Given the description of an element on the screen output the (x, y) to click on. 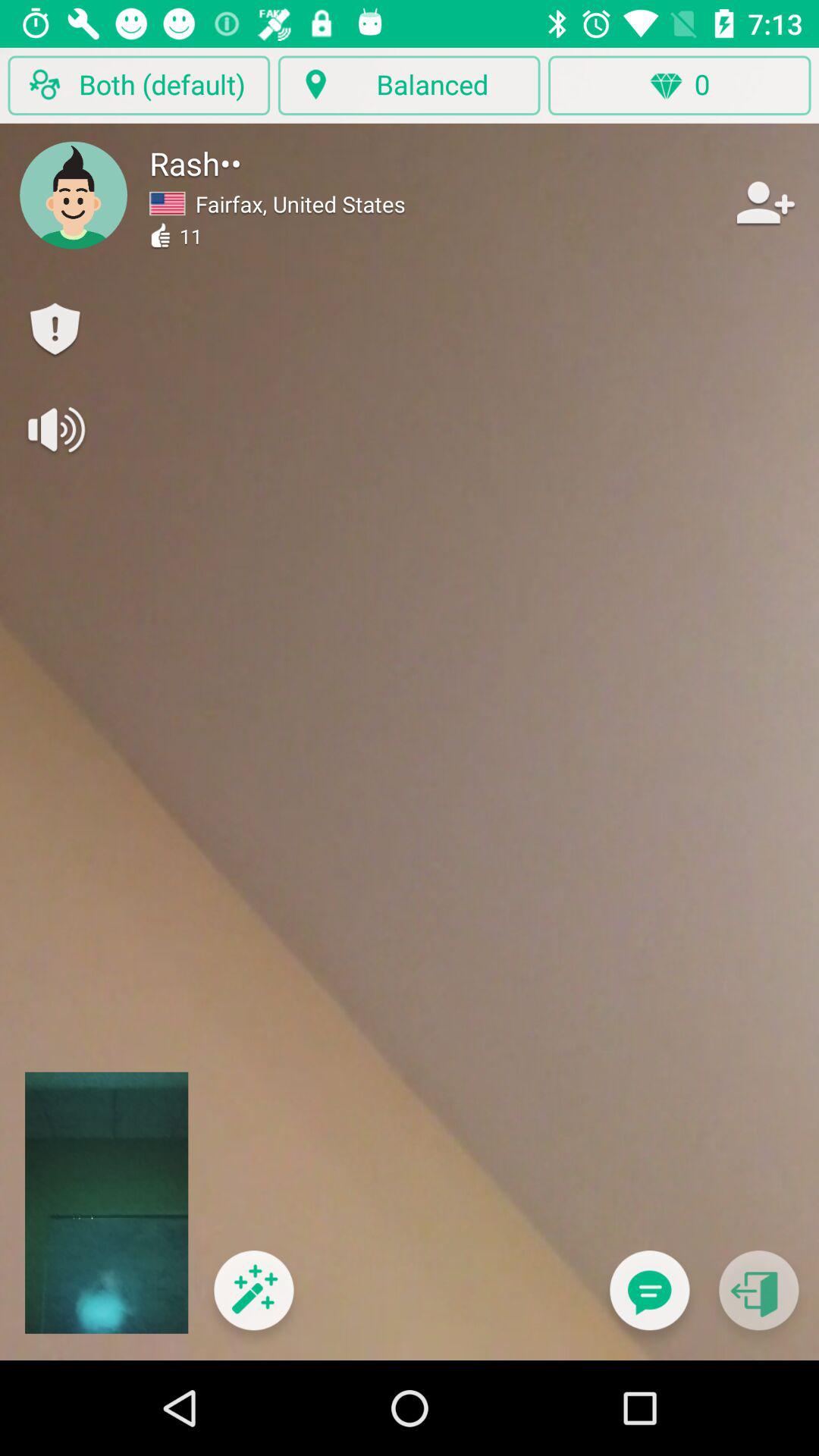
add contact (763, 202)
